Given the description of an element on the screen output the (x, y) to click on. 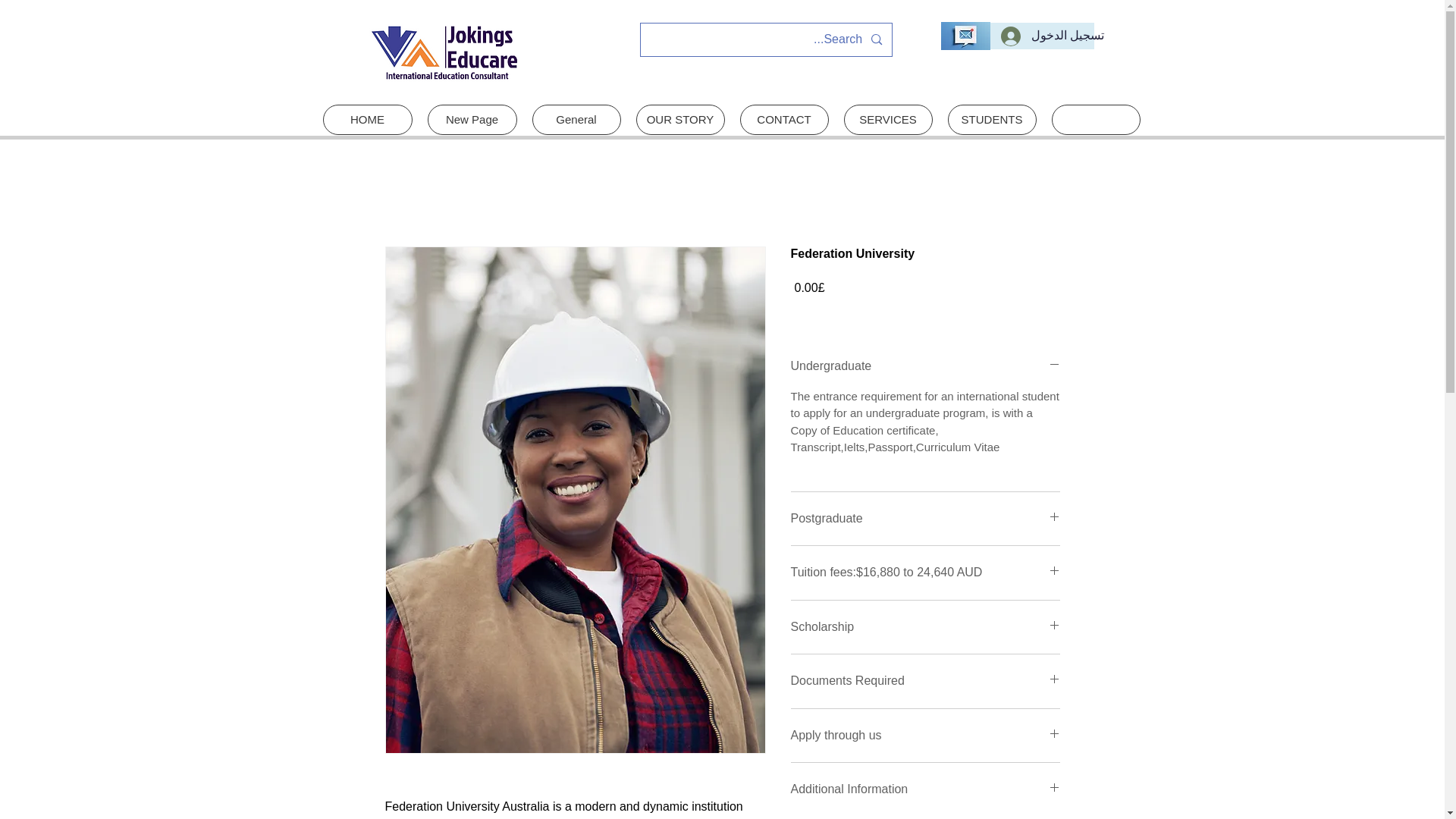
New Page (472, 119)
CONTACT (783, 119)
OUR STORY (678, 119)
General (576, 119)
SERVICES (887, 119)
HOME (367, 119)
STUDENTS (991, 119)
INVOICE Logo.jpg (443, 52)
